Given the description of an element on the screen output the (x, y) to click on. 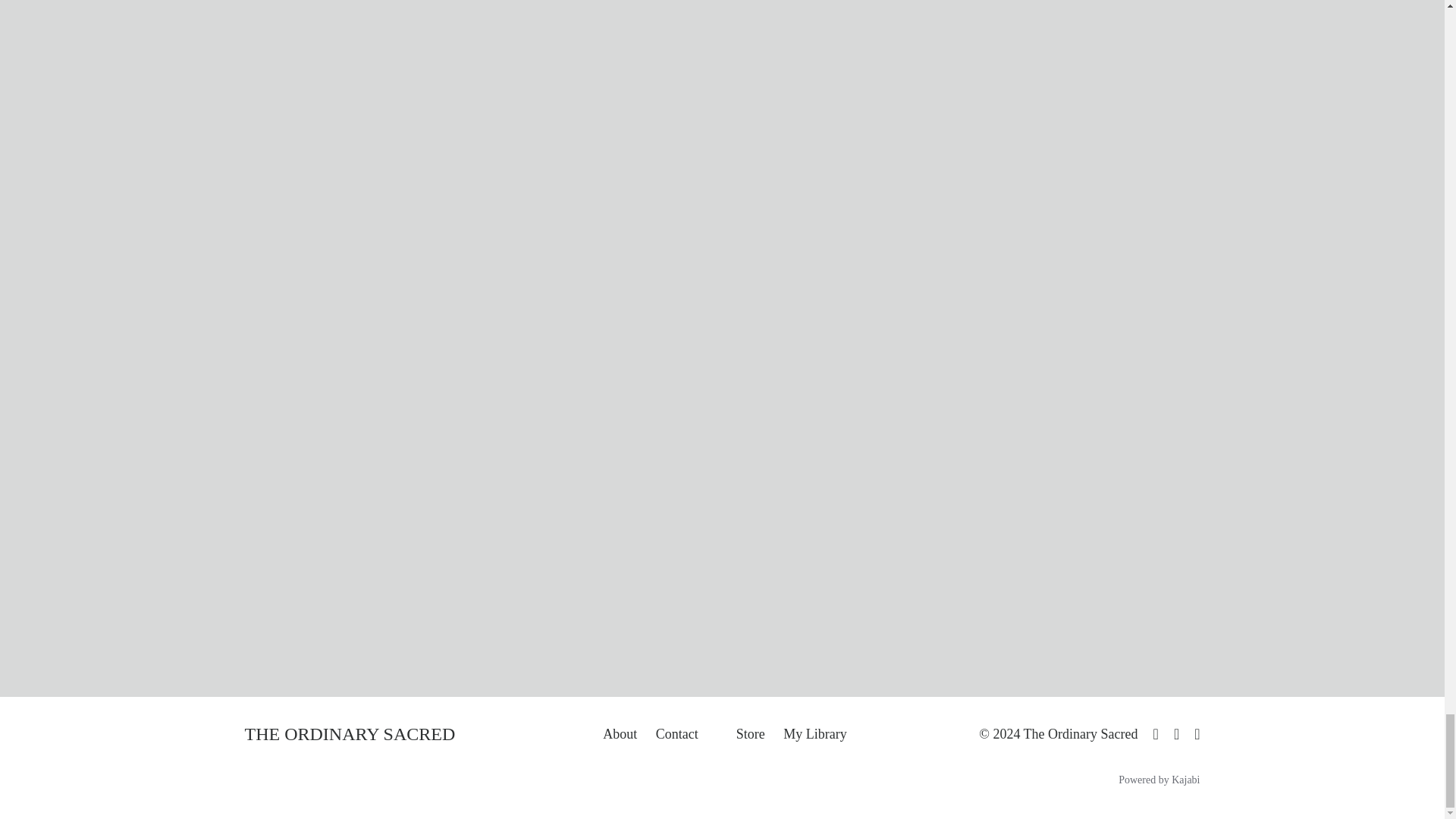
About (619, 734)
THE ORDINARY SACRED (349, 733)
Contact (677, 734)
Powered by Kajabi (1158, 779)
Store (750, 734)
My Library (814, 734)
